Given the description of an element on the screen output the (x, y) to click on. 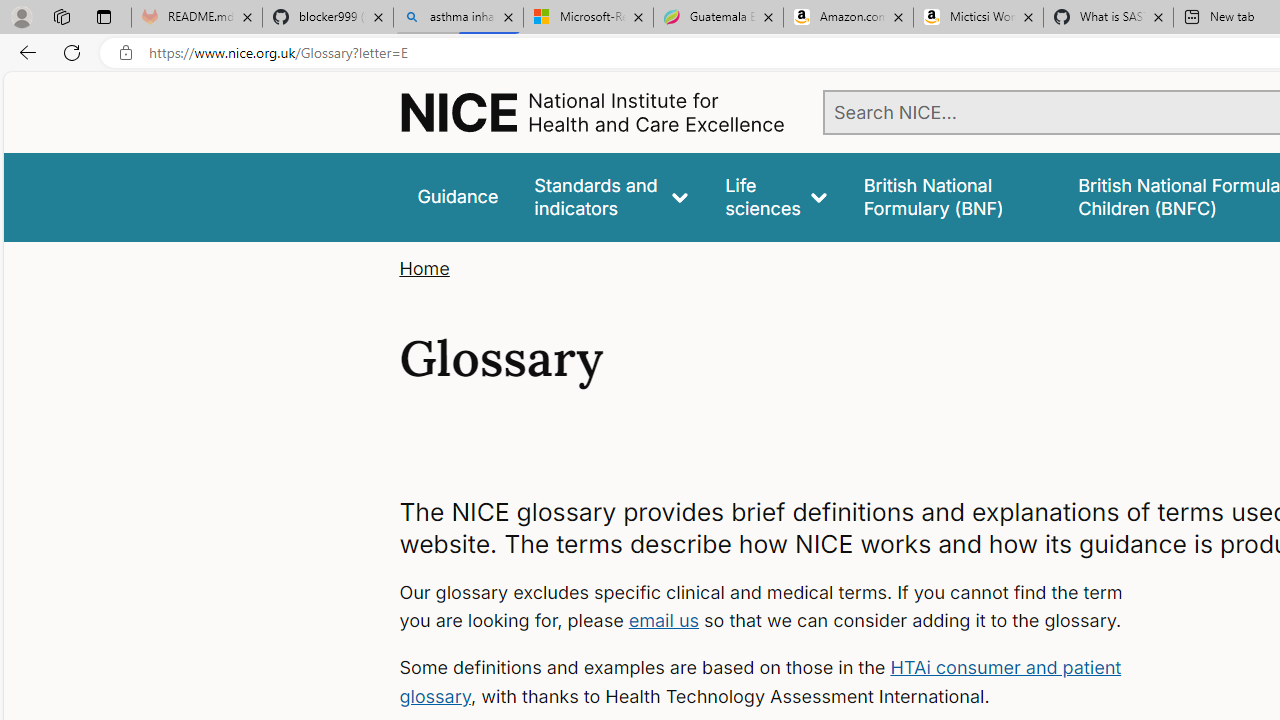
Refresh (72, 52)
Personal Profile (21, 16)
Guidance (458, 196)
View site information (125, 53)
HTAi consumer and patient glossary (760, 681)
Workspaces (61, 16)
false (952, 196)
Microsoft-Report a Concern to Bing (587, 17)
Tab actions menu (104, 16)
